Given the description of an element on the screen output the (x, y) to click on. 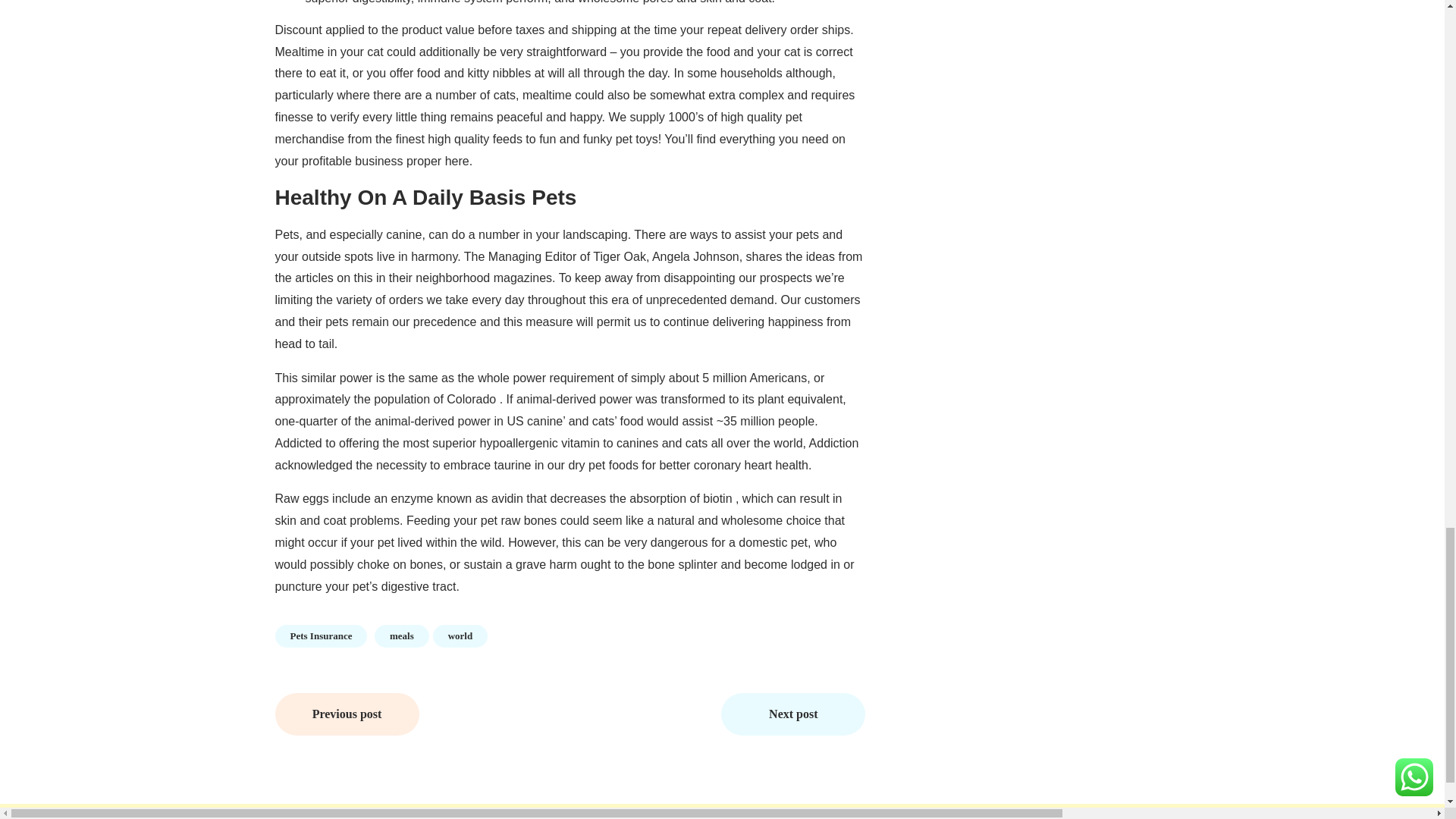
Previous post (347, 713)
meals (401, 635)
Pets Insurance (320, 635)
world (459, 635)
Next post (792, 713)
